Given the description of an element on the screen output the (x, y) to click on. 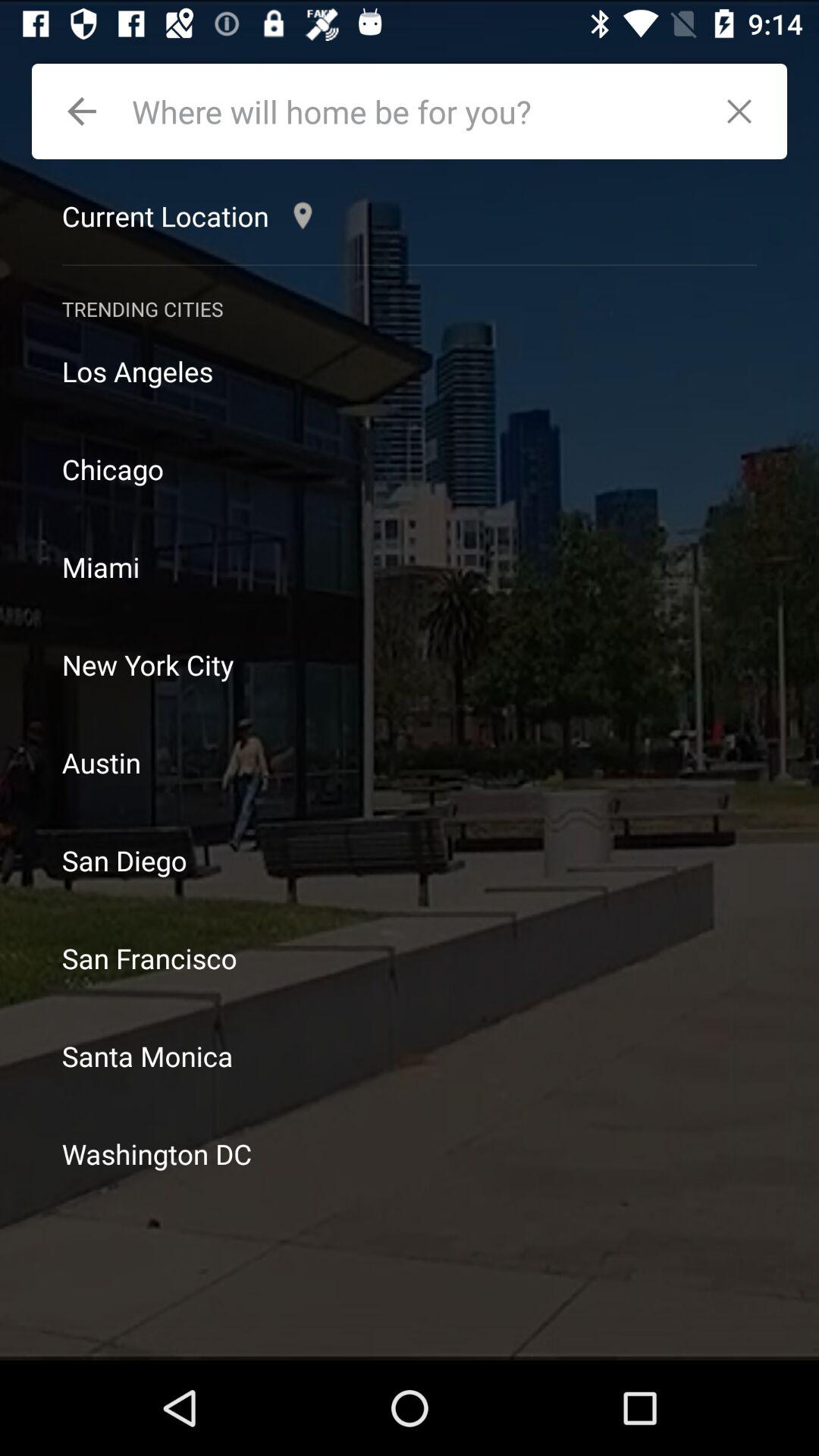
swipe to chicago (409, 469)
